Given the description of an element on the screen output the (x, y) to click on. 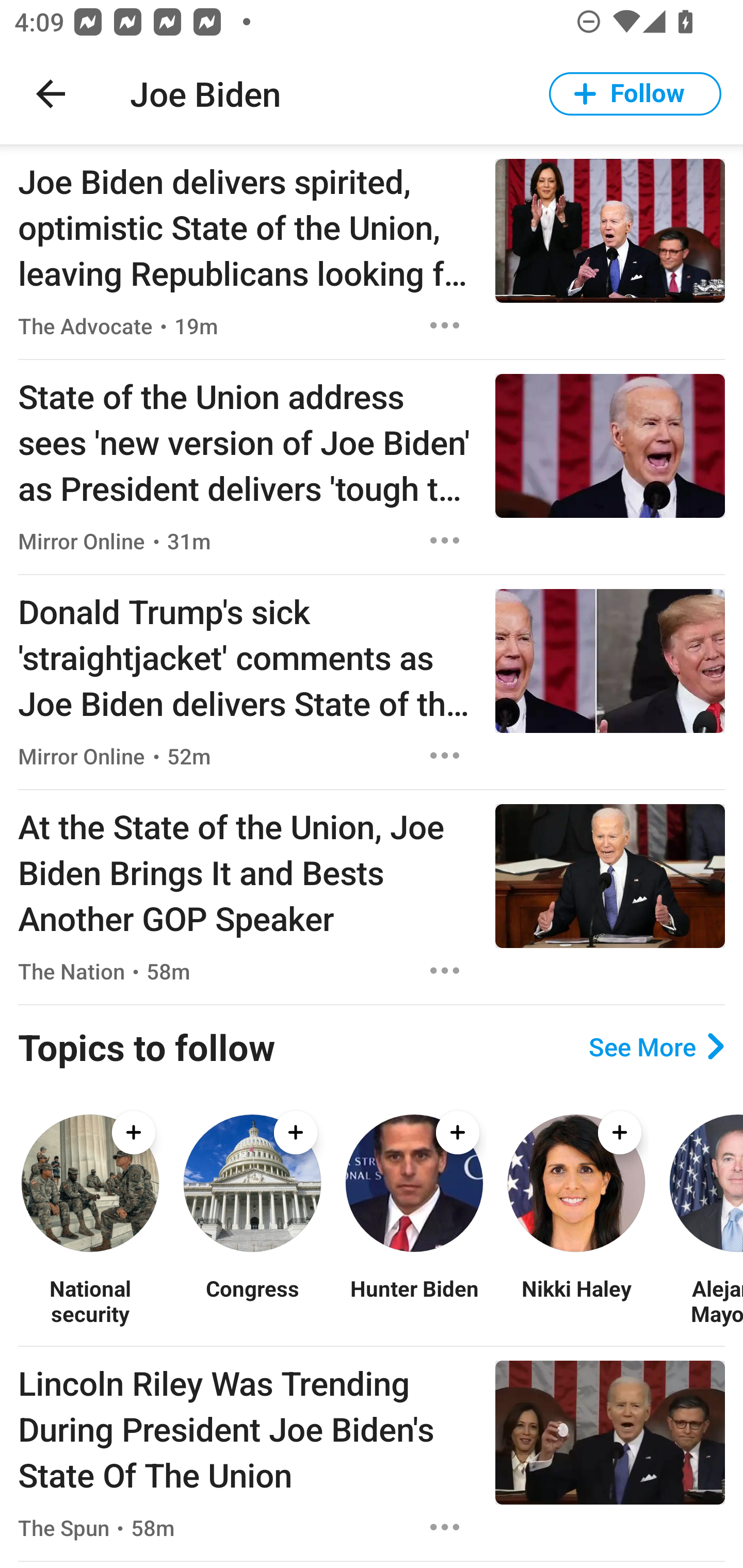
Navigate up (50, 93)
Follow (635, 94)
Options (444, 325)
Options (444, 540)
Options (444, 755)
Options (444, 970)
See More (656, 1046)
National security (89, 1300)
Congress (251, 1300)
Hunter Biden (413, 1300)
Nikki Haley (575, 1300)
Alejandro Mayorkas (704, 1300)
Options (444, 1527)
